Given the description of an element on the screen output the (x, y) to click on. 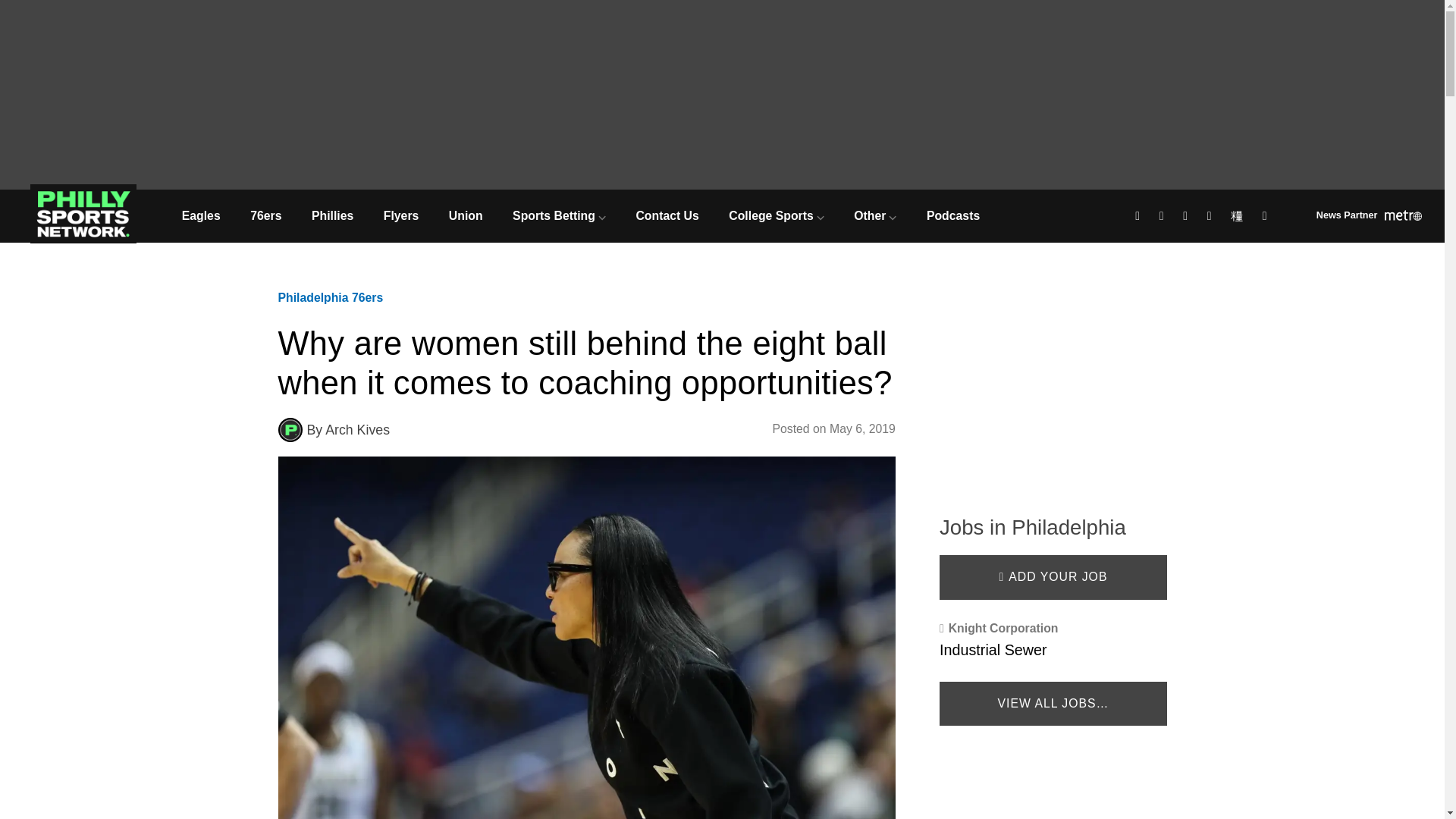
Podcasts (952, 215)
Instagram (1187, 216)
Tiktok (1238, 216)
Eagles (200, 215)
76ers (265, 215)
Phillies (332, 215)
Discord (1266, 216)
Facebook (1139, 216)
Union (465, 215)
Twitter (1163, 216)
Other (876, 215)
College Sports (777, 215)
Sports Betting (558, 215)
News Partner (1369, 216)
Flyers (400, 215)
